Given the description of an element on the screen output the (x, y) to click on. 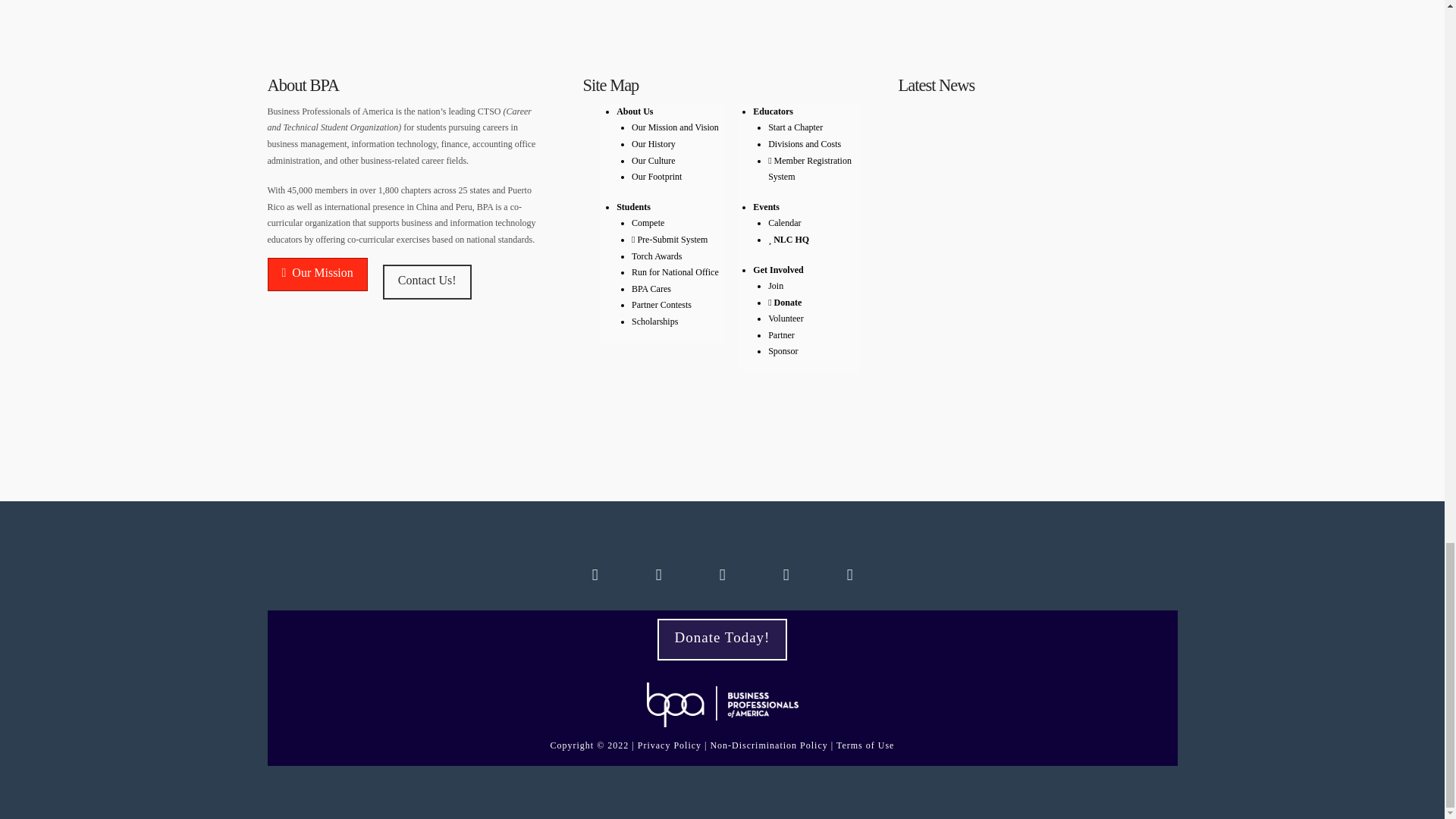
About Us (633, 111)
Our History (653, 143)
Our Culture (653, 160)
Our Mission (316, 274)
Contact Us! (426, 282)
Contact the team at Business Professionals of America today! (426, 282)
Our Mission and Vision (675, 127)
